Given the description of an element on the screen output the (x, y) to click on. 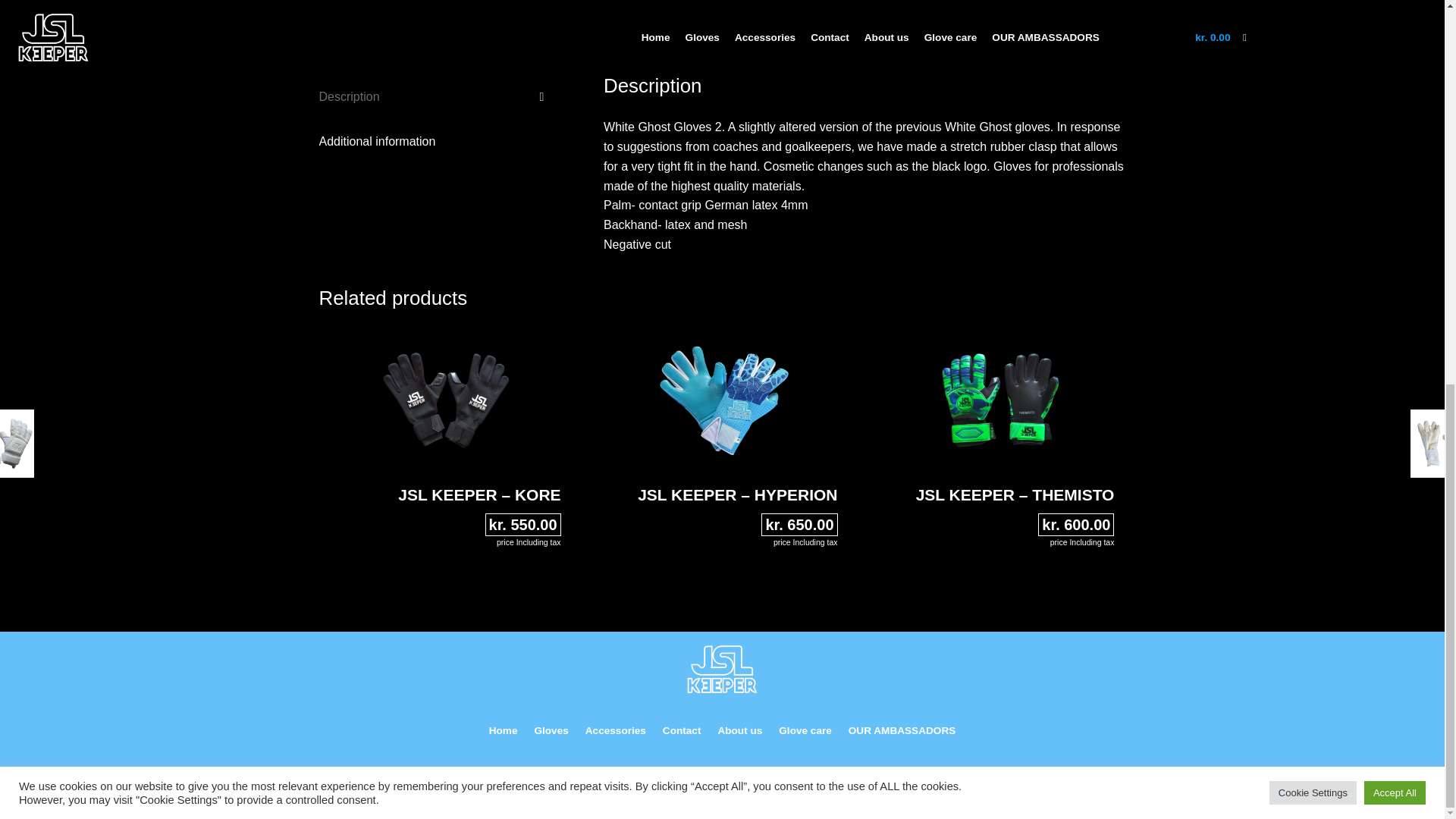
Additional information (437, 141)
Description (437, 96)
